Given the description of an element on the screen output the (x, y) to click on. 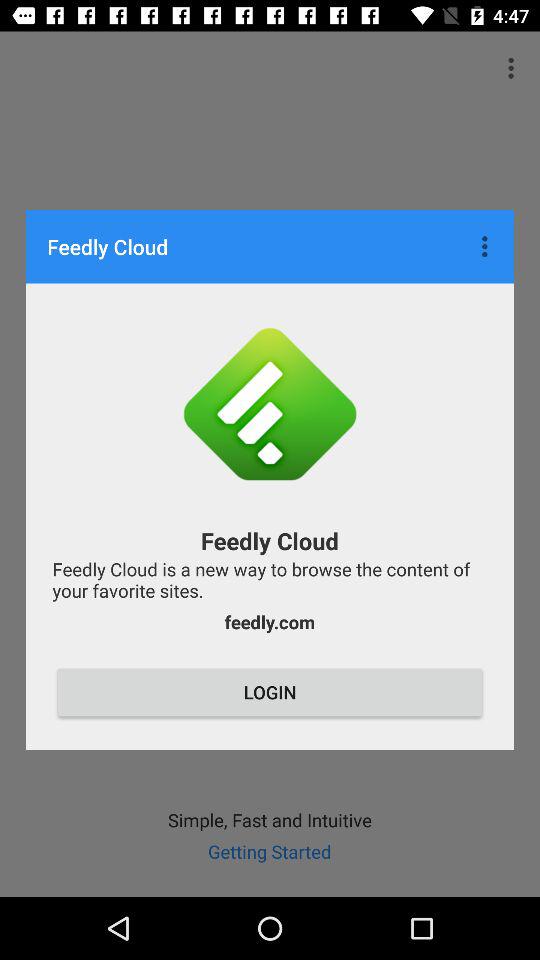
turn on the icon at the bottom (269, 691)
